Given the description of an element on the screen output the (x, y) to click on. 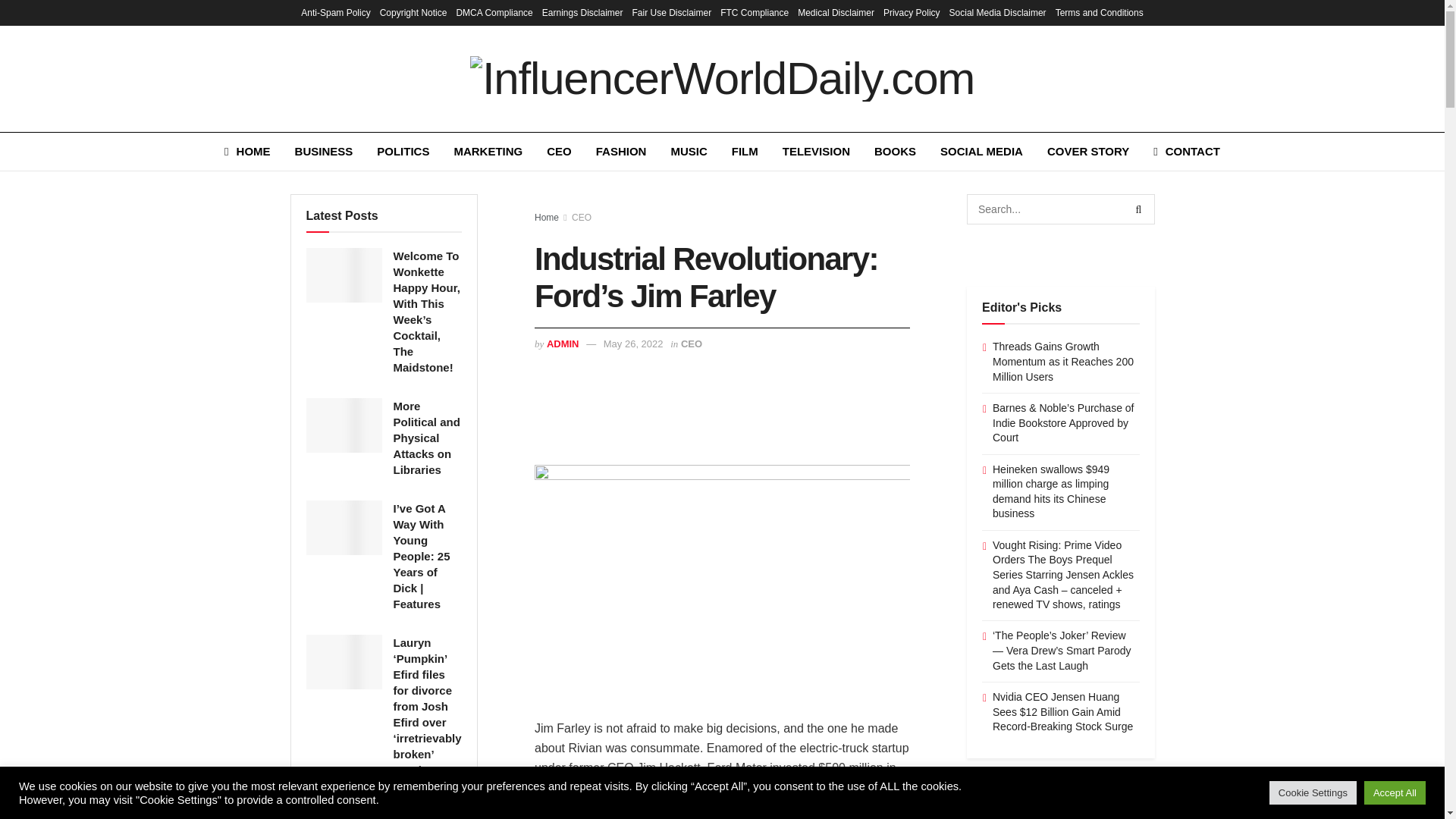
POLITICS (403, 151)
Earnings Disclaimer (582, 12)
DMCA Compliance (493, 12)
Medical Disclaimer (836, 12)
Terms and Conditions (1098, 12)
Copyright Notice (413, 12)
HOME (247, 151)
Social Media Disclaimer (997, 12)
Anti-Spam Policy (335, 12)
Fair Use Disclaimer (671, 12)
MARKETING (487, 151)
BUSINESS (323, 151)
Privacy Policy (911, 12)
FTC Compliance (754, 12)
